Given the description of an element on the screen output the (x, y) to click on. 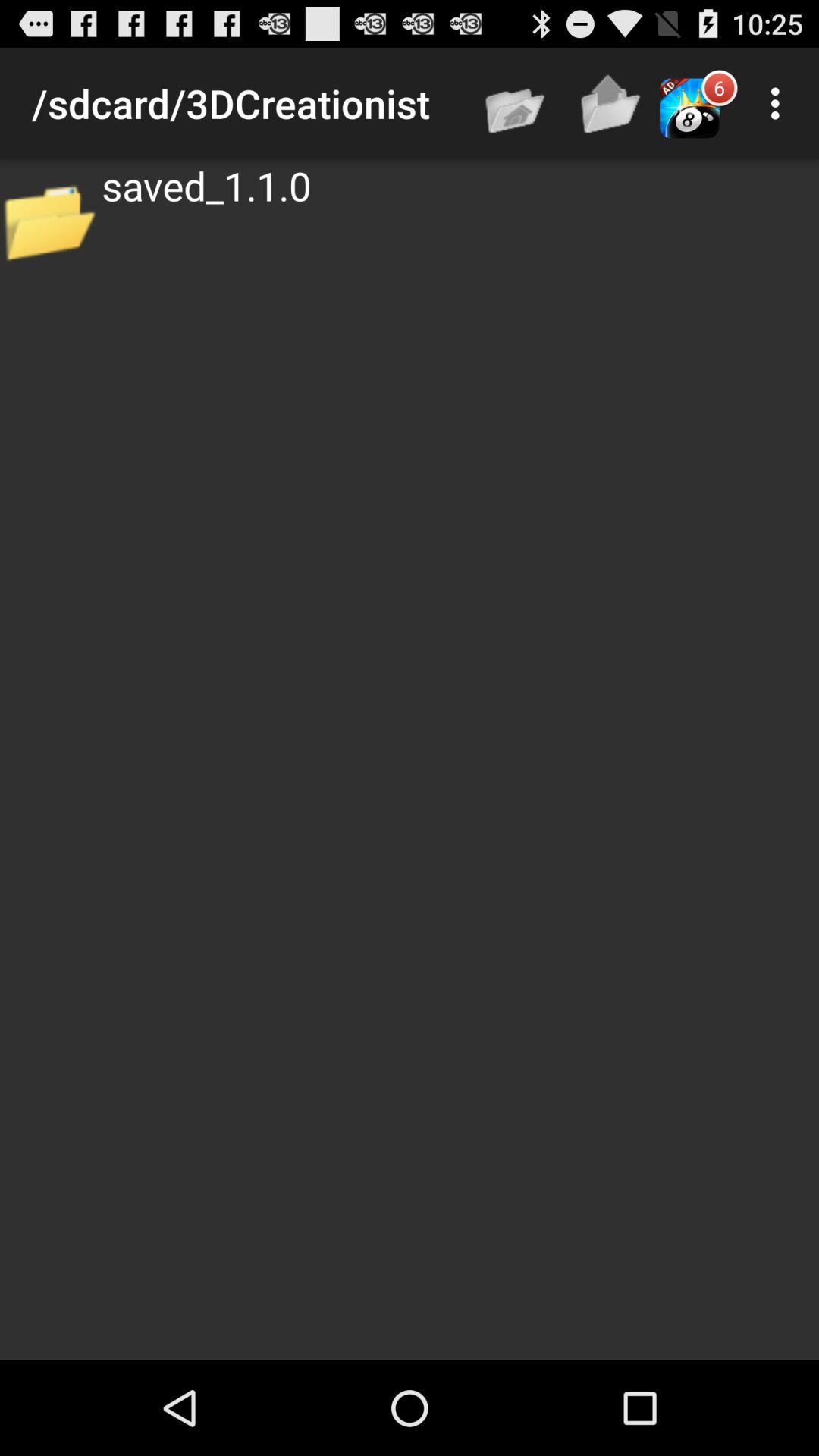
turn on item above saved_1.1.0 item (611, 103)
